Given the description of an element on the screen output the (x, y) to click on. 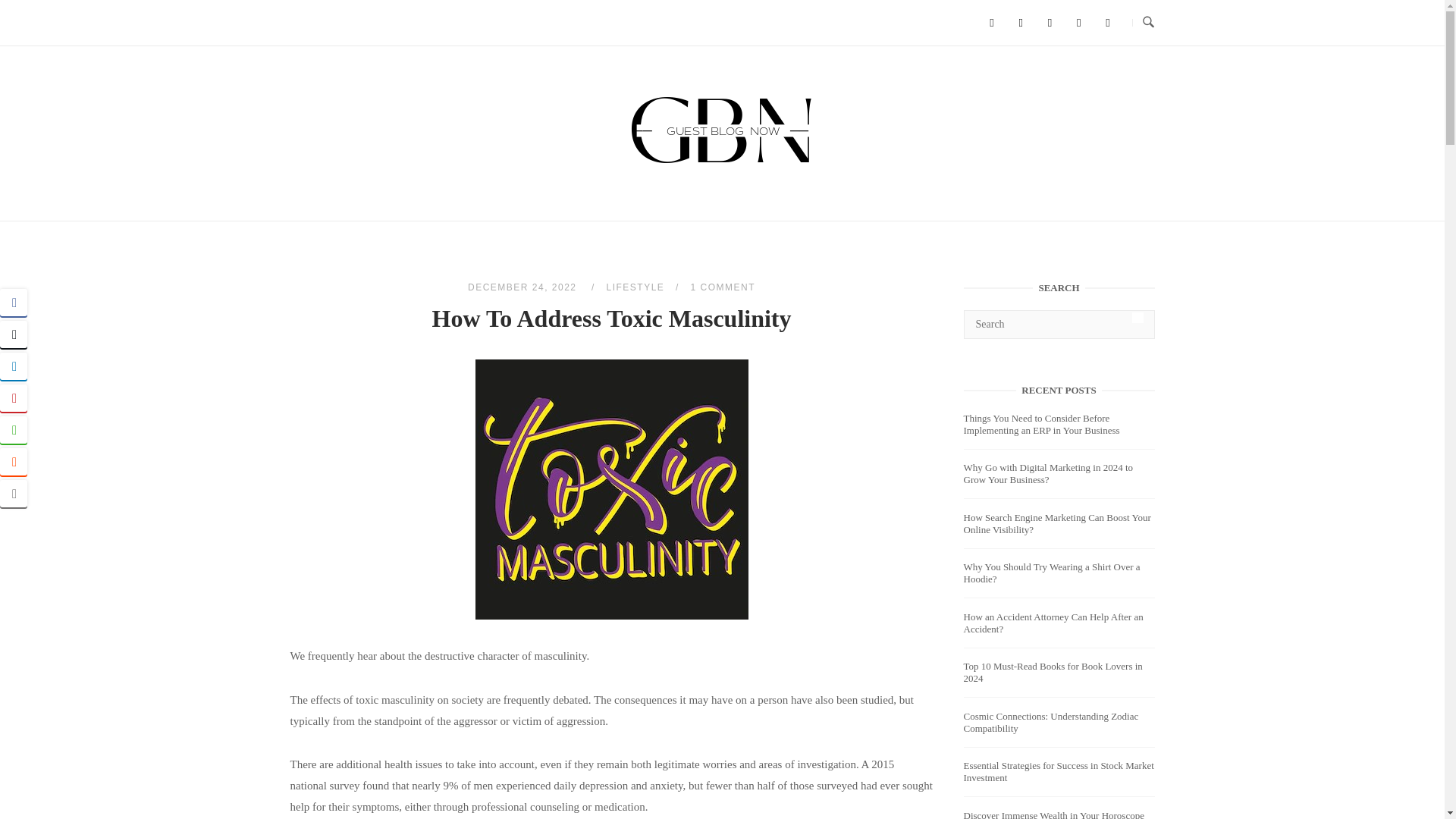
Guest Blog Now on Facebook (991, 22)
1 COMMENT (722, 286)
Guest Blog Now on Linkedin (1050, 22)
Guest Blog Now on Instagram (1107, 22)
Guest Blog Now on Pinterest (1078, 22)
LIFESTYLE (636, 286)
Home (721, 163)
Guest Blog Now on X Twitter (1020, 22)
